Given the description of an element on the screen output the (x, y) to click on. 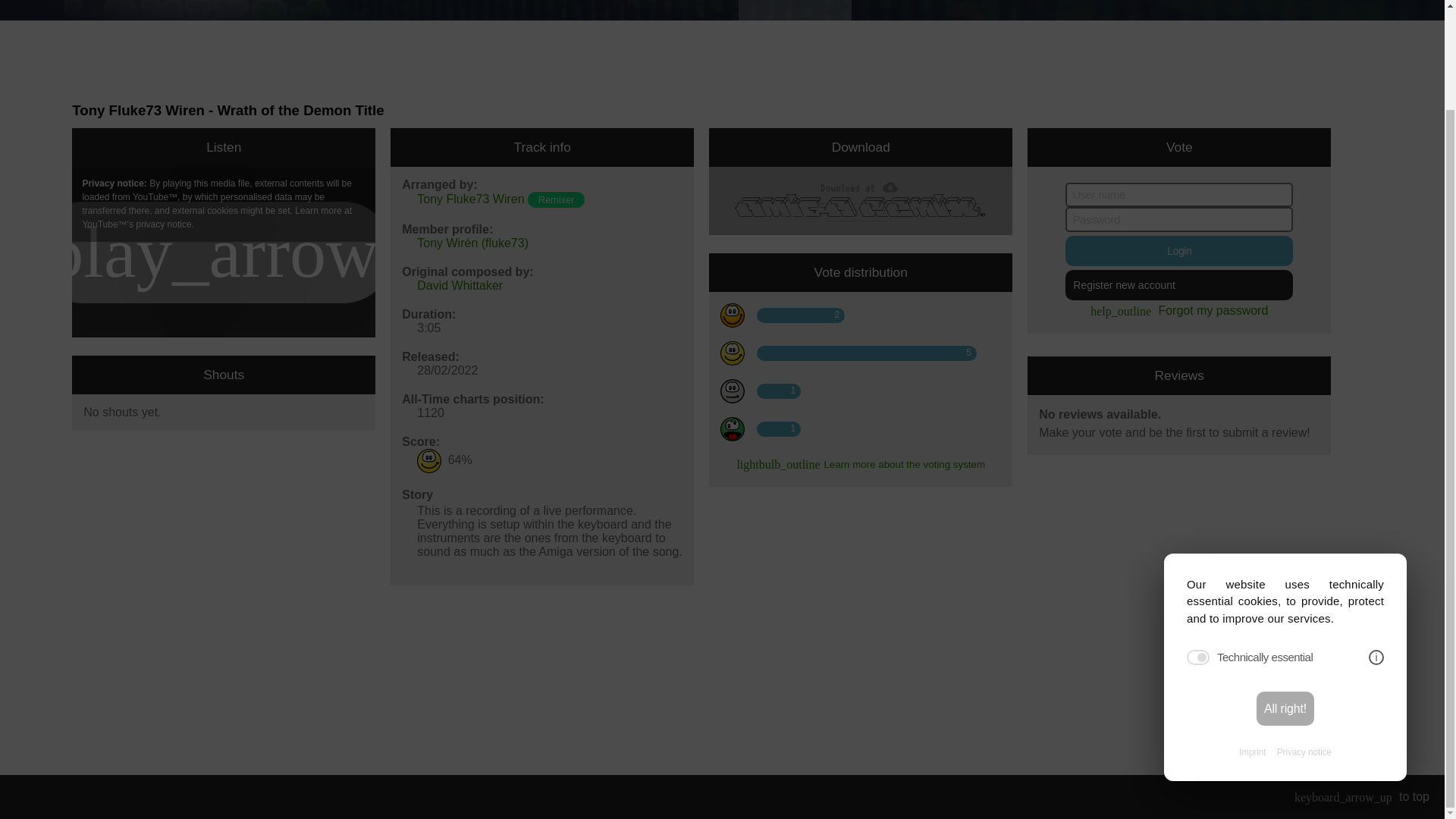
Imprint (1252, 635)
Regular - 3 years a remixer (556, 199)
REMIX SCENE (794, 10)
Privacy notice (1304, 635)
on (1197, 540)
Login (1178, 250)
